Given the description of an element on the screen output the (x, y) to click on. 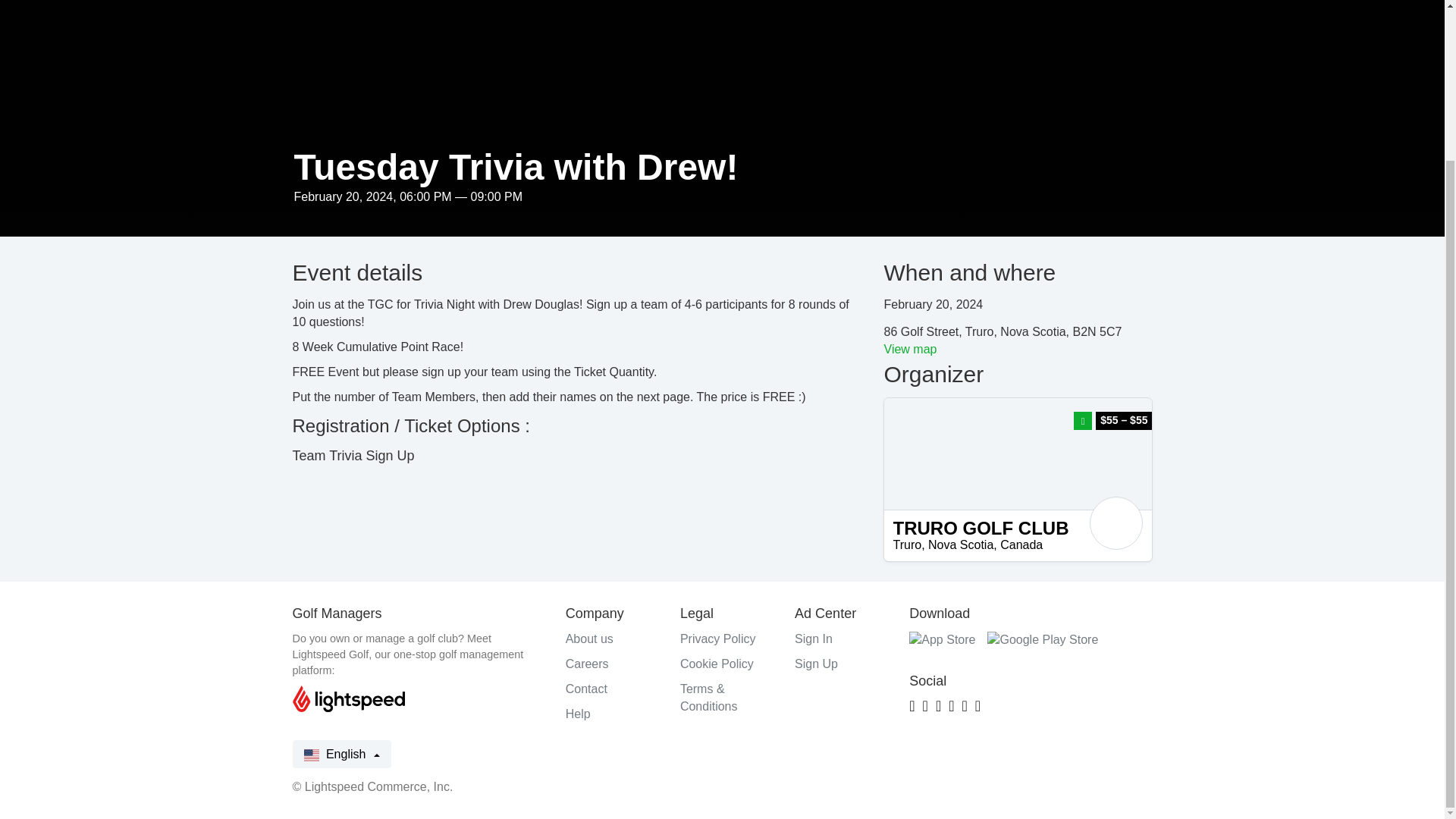
View map (910, 349)
Careers (587, 663)
Privacy Policy (717, 638)
TRURO GOLF CLUB (1017, 528)
About us (589, 638)
Contact (586, 688)
Canada (1021, 544)
Truro (907, 544)
Help (578, 713)
Nova Scotia (960, 544)
English (341, 754)
Cookie Policy (716, 663)
